Given the description of an element on the screen output the (x, y) to click on. 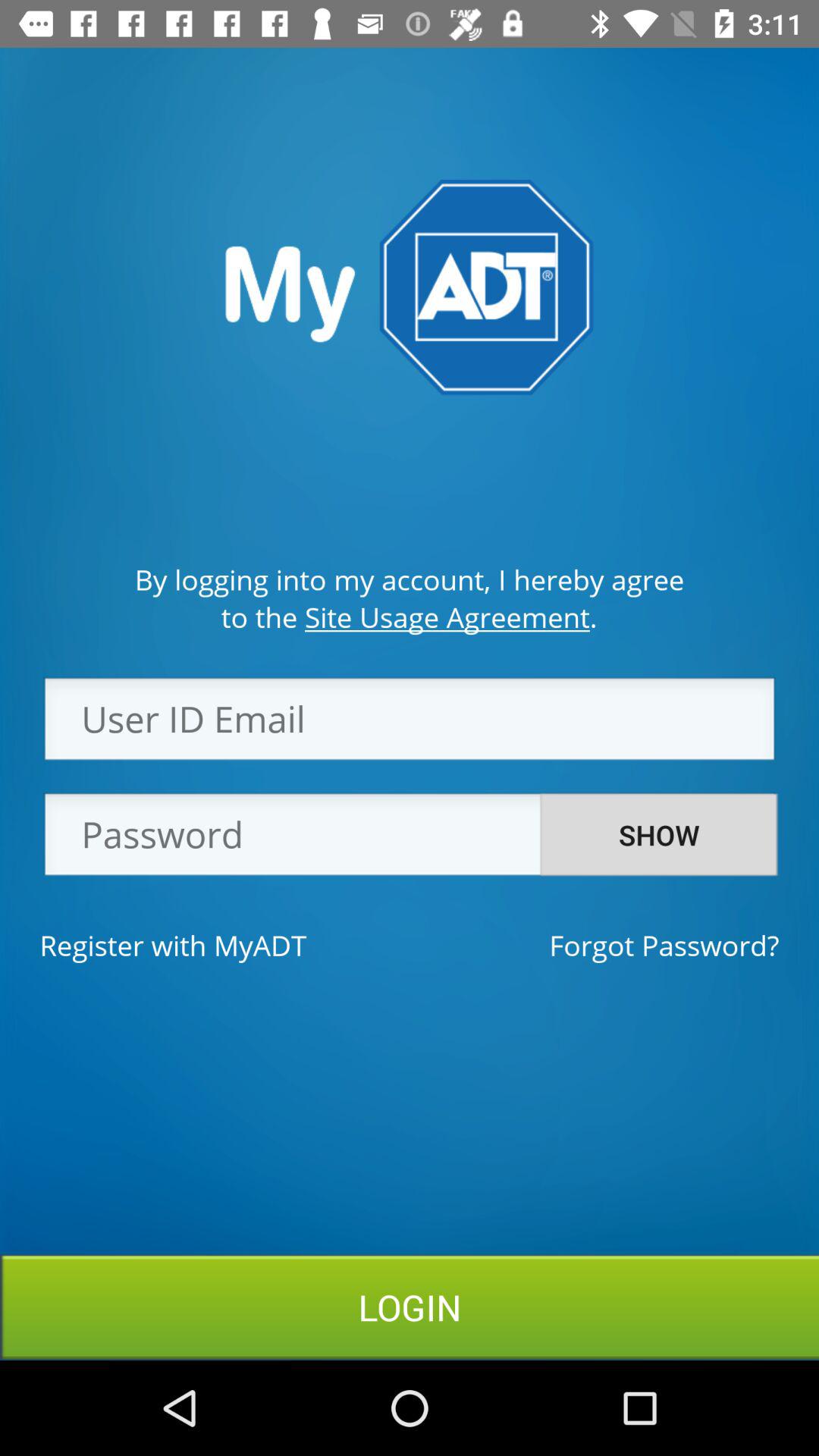
choose the register with myadt (172, 945)
